Given the description of an element on the screen output the (x, y) to click on. 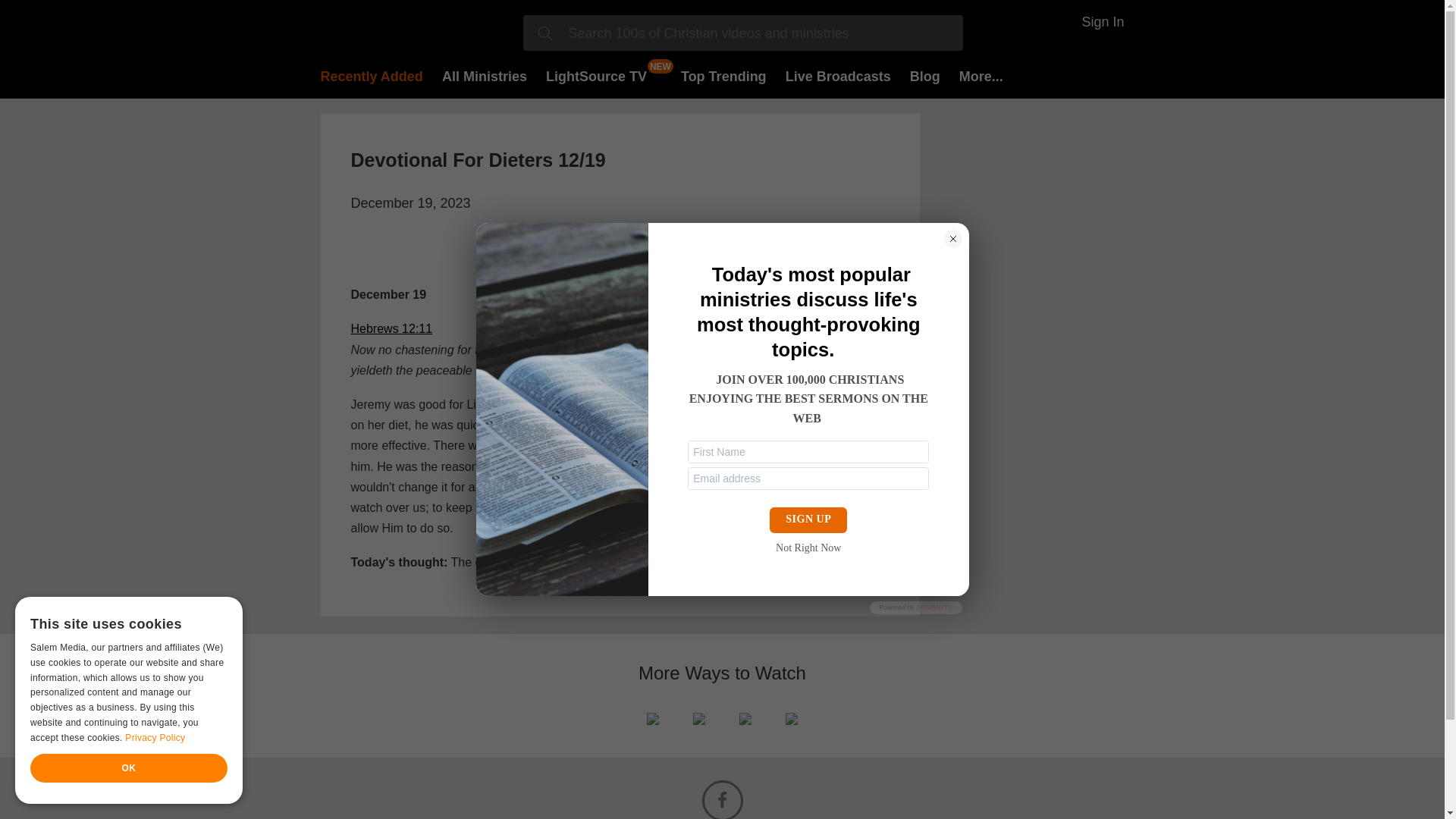
Live Broadcasts (838, 76)
Recently Added (371, 76)
Hebrews 12:11 (391, 328)
Top Trending (724, 76)
Blog (925, 76)
More... (981, 76)
LightSource TV (596, 76)
All Ministries (484, 76)
